Given the description of an element on the screen output the (x, y) to click on. 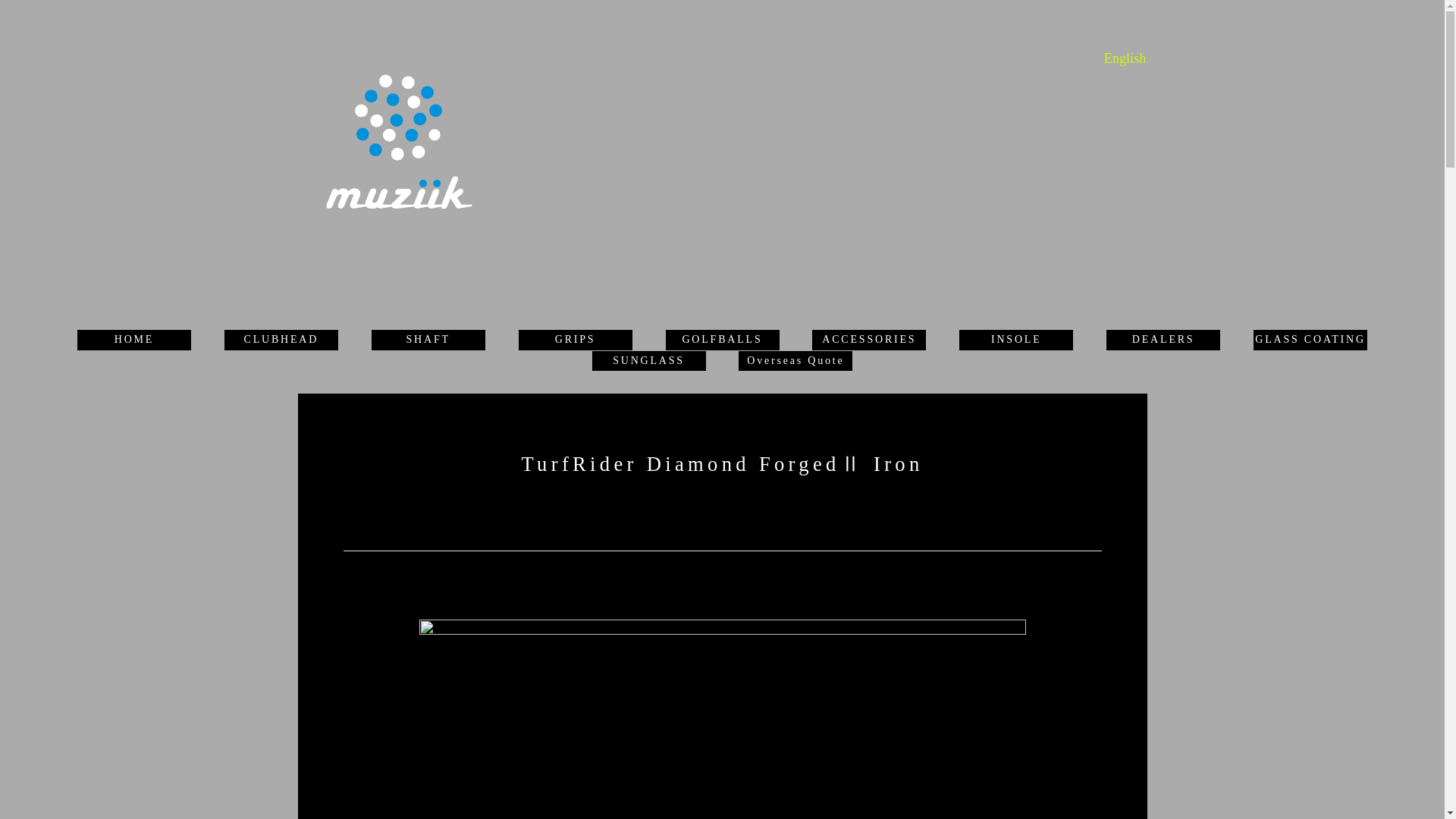
INSOLE (1016, 338)
DEALERS (1163, 338)
GRIPS (574, 338)
CLUBHEAD (281, 338)
English (1125, 58)
ACCESSORIES (868, 338)
SUNGLASS (648, 360)
HOME (134, 338)
Overseas Quote (795, 360)
SHAFT (427, 338)
